Given the description of an element on the screen output the (x, y) to click on. 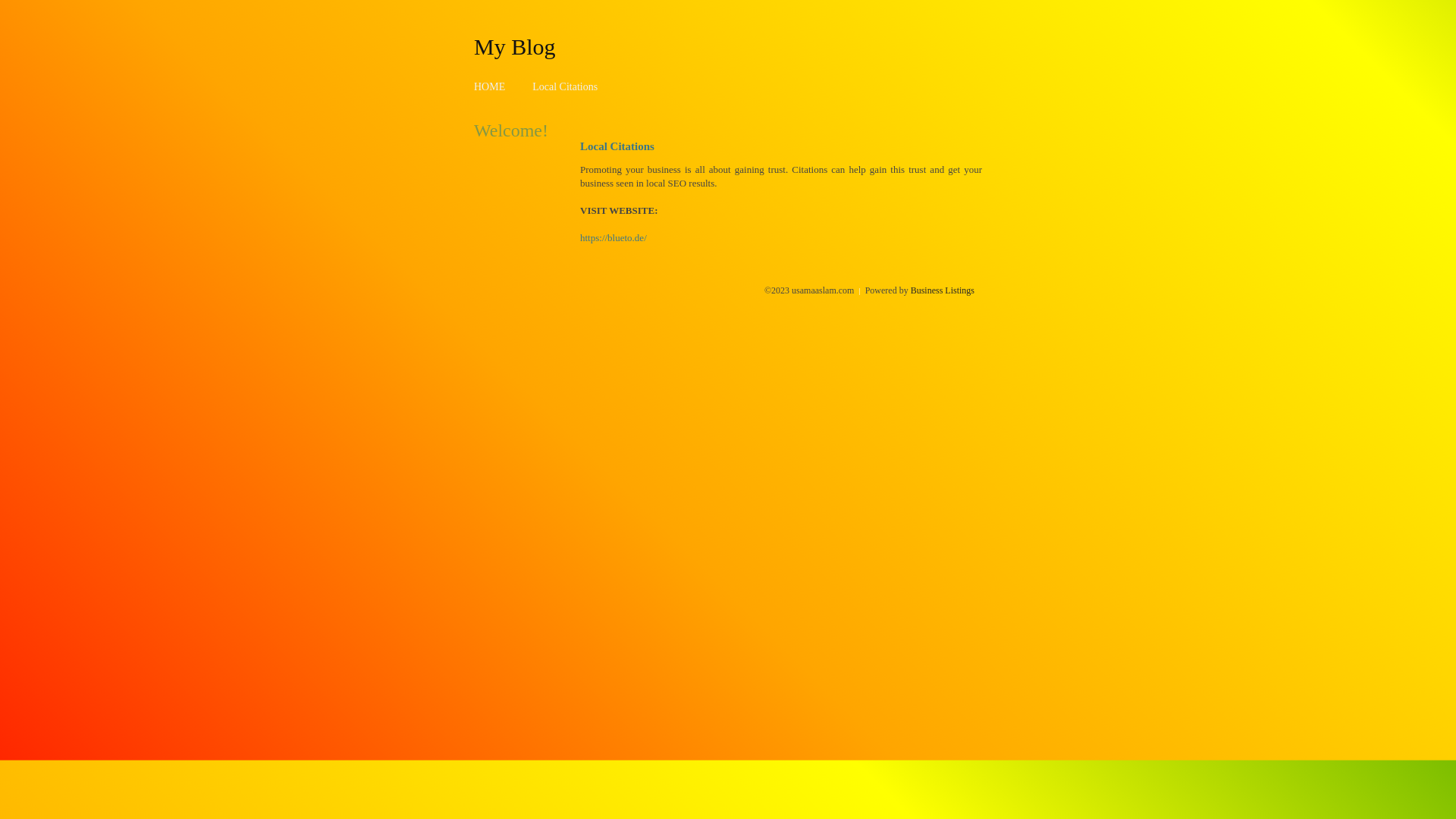
https://blueto.de/ Element type: text (613, 237)
HOME Element type: text (489, 86)
Local Citations Element type: text (564, 86)
Business Listings Element type: text (942, 290)
My Blog Element type: text (514, 46)
